Given the description of an element on the screen output the (x, y) to click on. 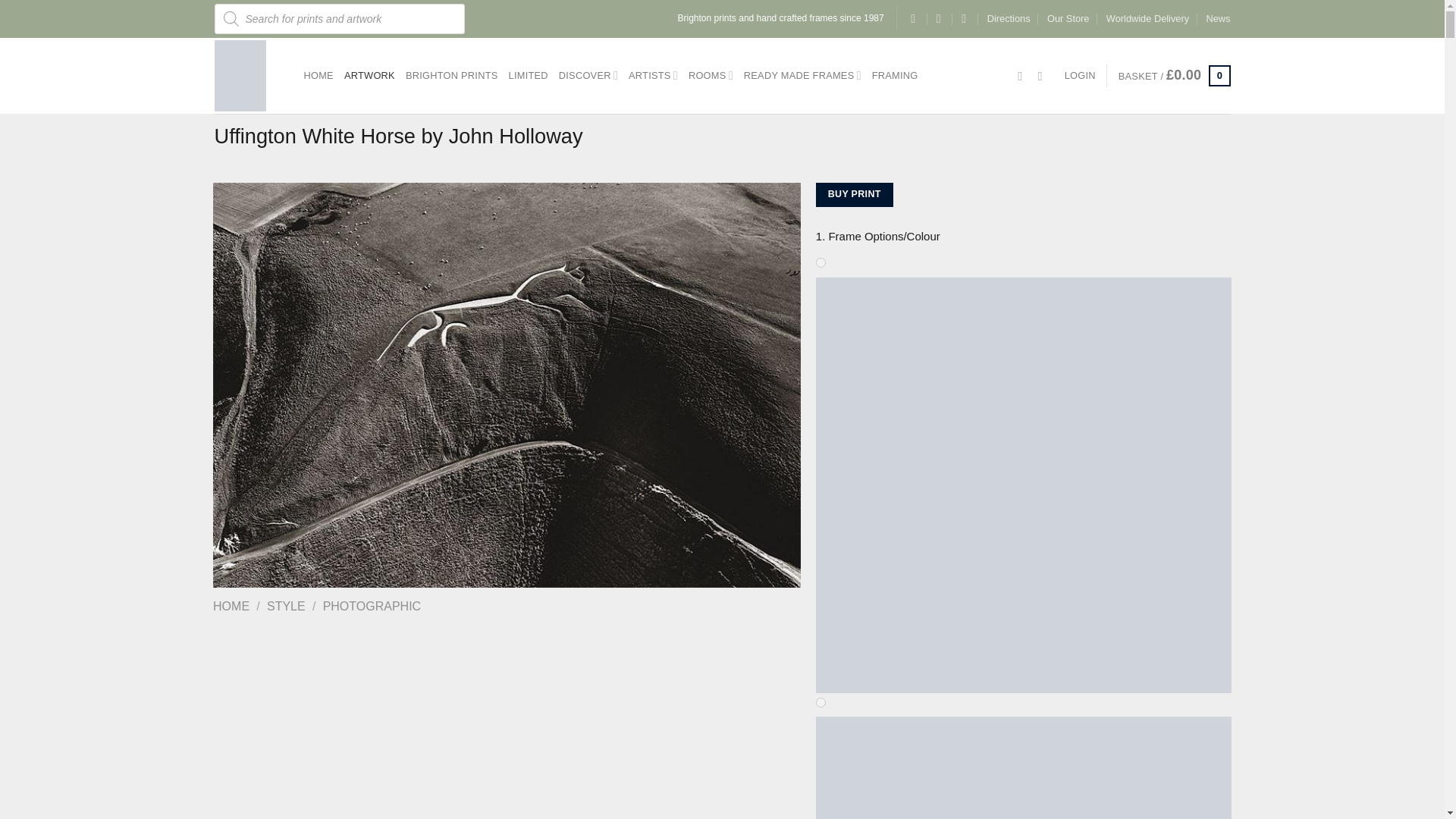
Worldwide Delivery (1147, 18)
ARTWORK (368, 75)
Login (1080, 75)
DISCOVER (588, 75)
Basket (1174, 75)
LIMITED (528, 75)
HOME (317, 75)
Our Store (1067, 18)
Directions (1008, 18)
